Given the description of an element on the screen output the (x, y) to click on. 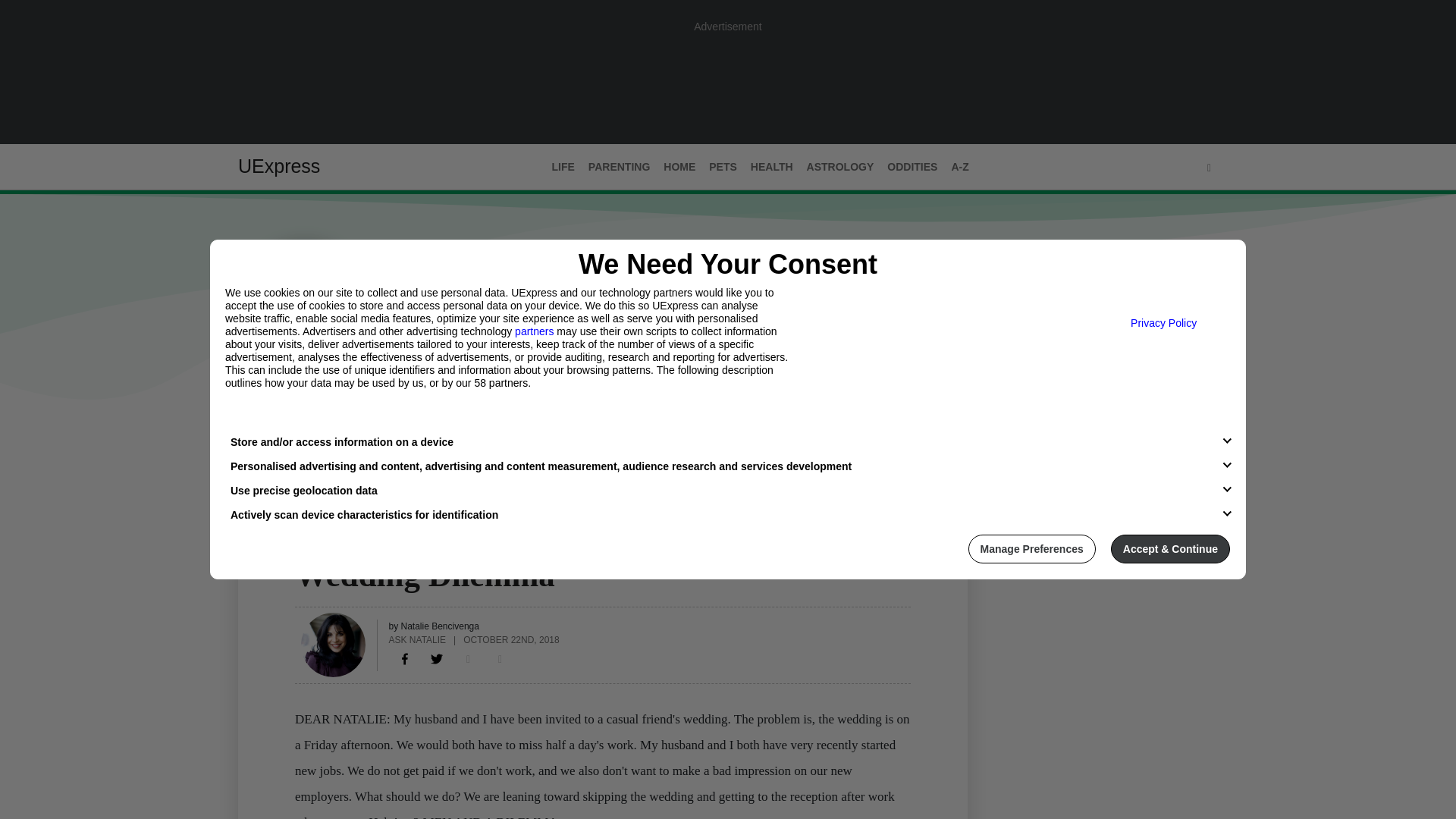
HOME (678, 166)
Wedding Dilemma (404, 658)
ASTROLOGY (839, 166)
Archives (371, 431)
LIFE (562, 166)
PARENTING (618, 166)
HEALTH (771, 166)
ASK NATALIE (416, 639)
LIFE (306, 545)
Latest (256, 431)
About (309, 431)
ODDITIES (911, 166)
A-Z (959, 166)
UExpress (279, 166)
PETS (722, 166)
